Given the description of an element on the screen output the (x, y) to click on. 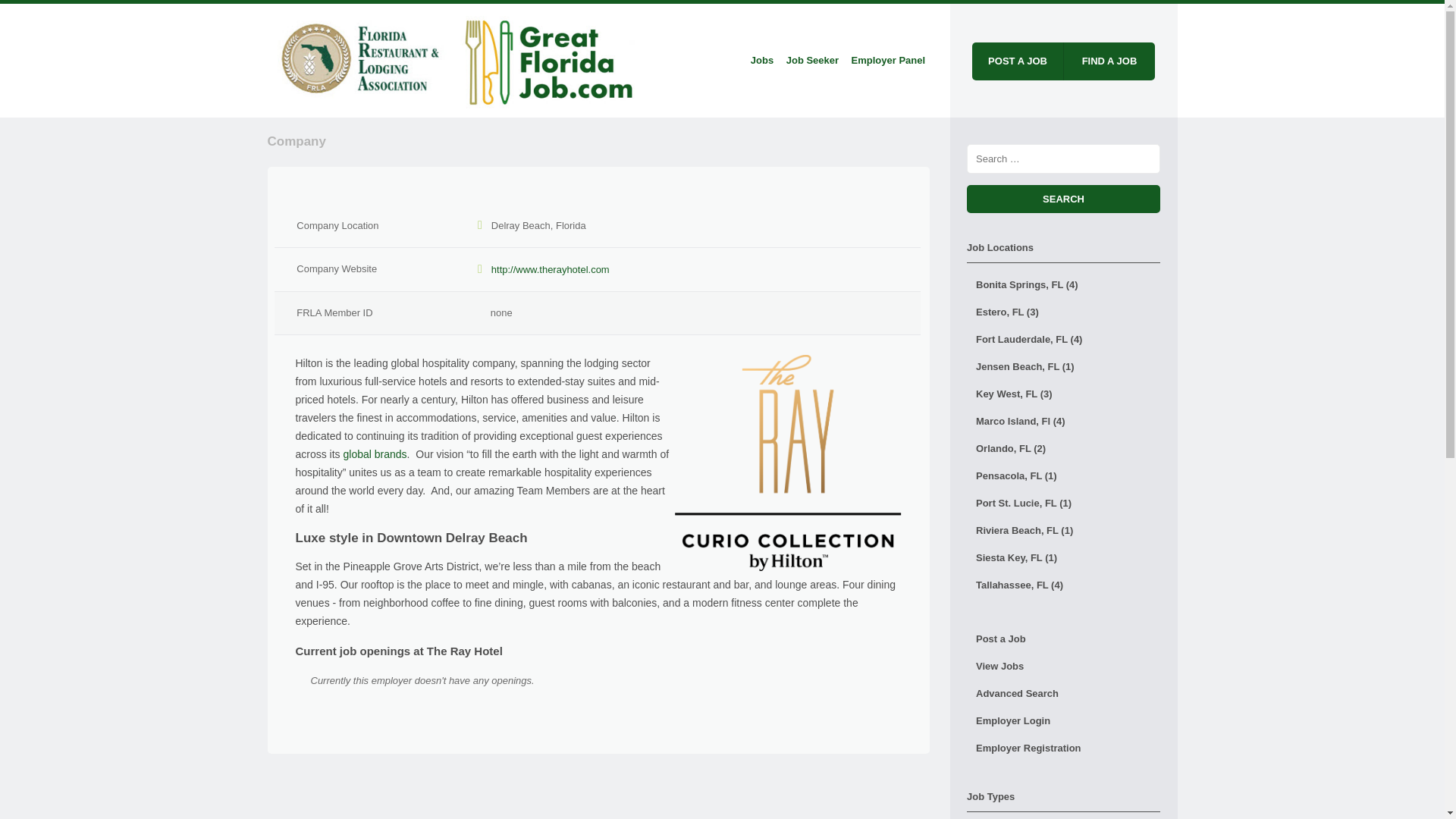
FIND A JOB (1108, 61)
POST A JOB (1017, 61)
Employer Panel (887, 60)
Skip to content (744, 60)
global brands (375, 453)
Search (1063, 198)
Skip to content (744, 60)
Post a Job (1063, 638)
Employer Registration (1063, 748)
View Jobs (1063, 666)
